Given the description of an element on the screen output the (x, y) to click on. 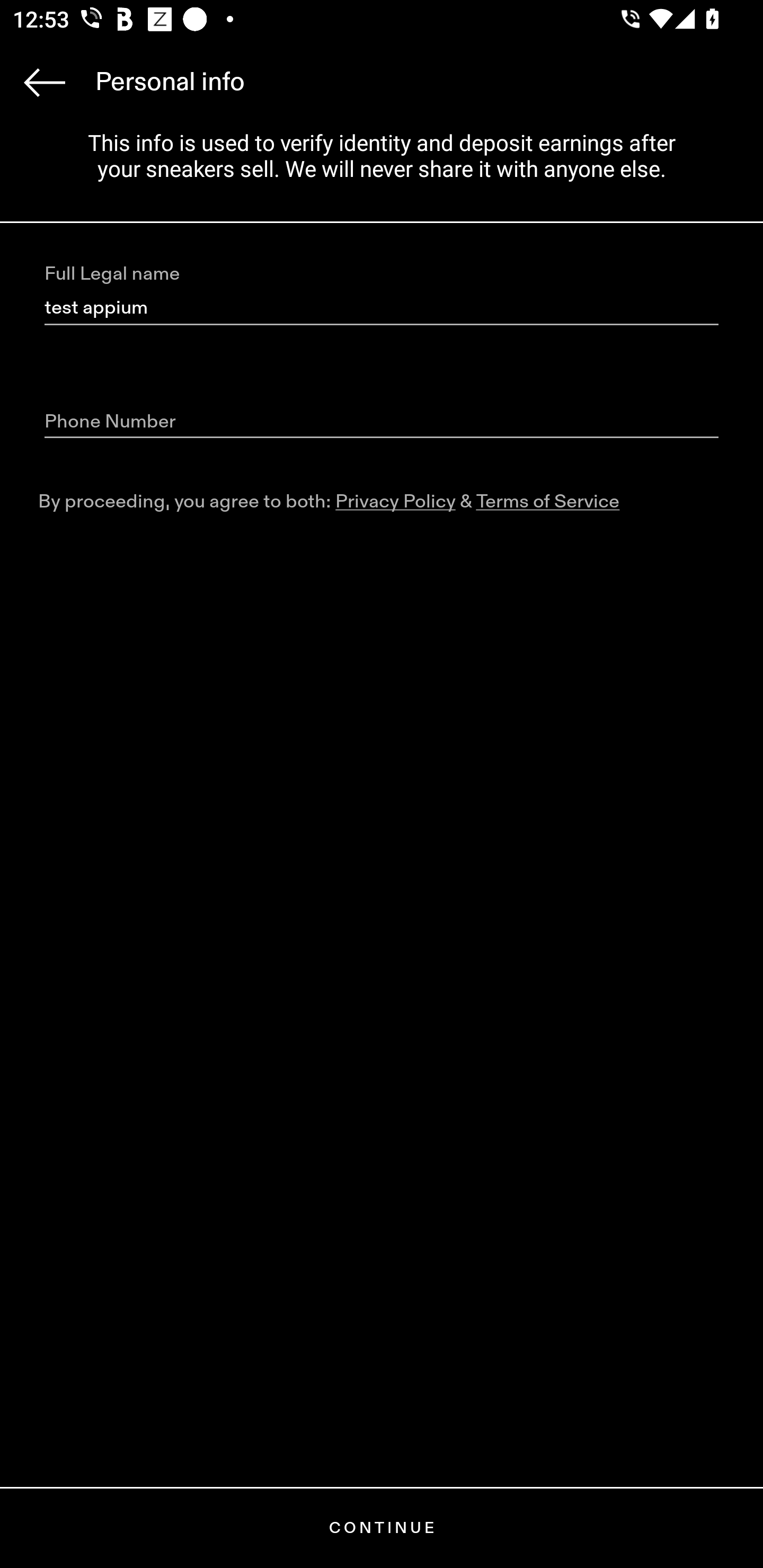
Navigate up (44, 82)
test appium (381, 308)
Phone Number (381, 422)
CONTINUE (381, 1528)
